Given the description of an element on the screen output the (x, y) to click on. 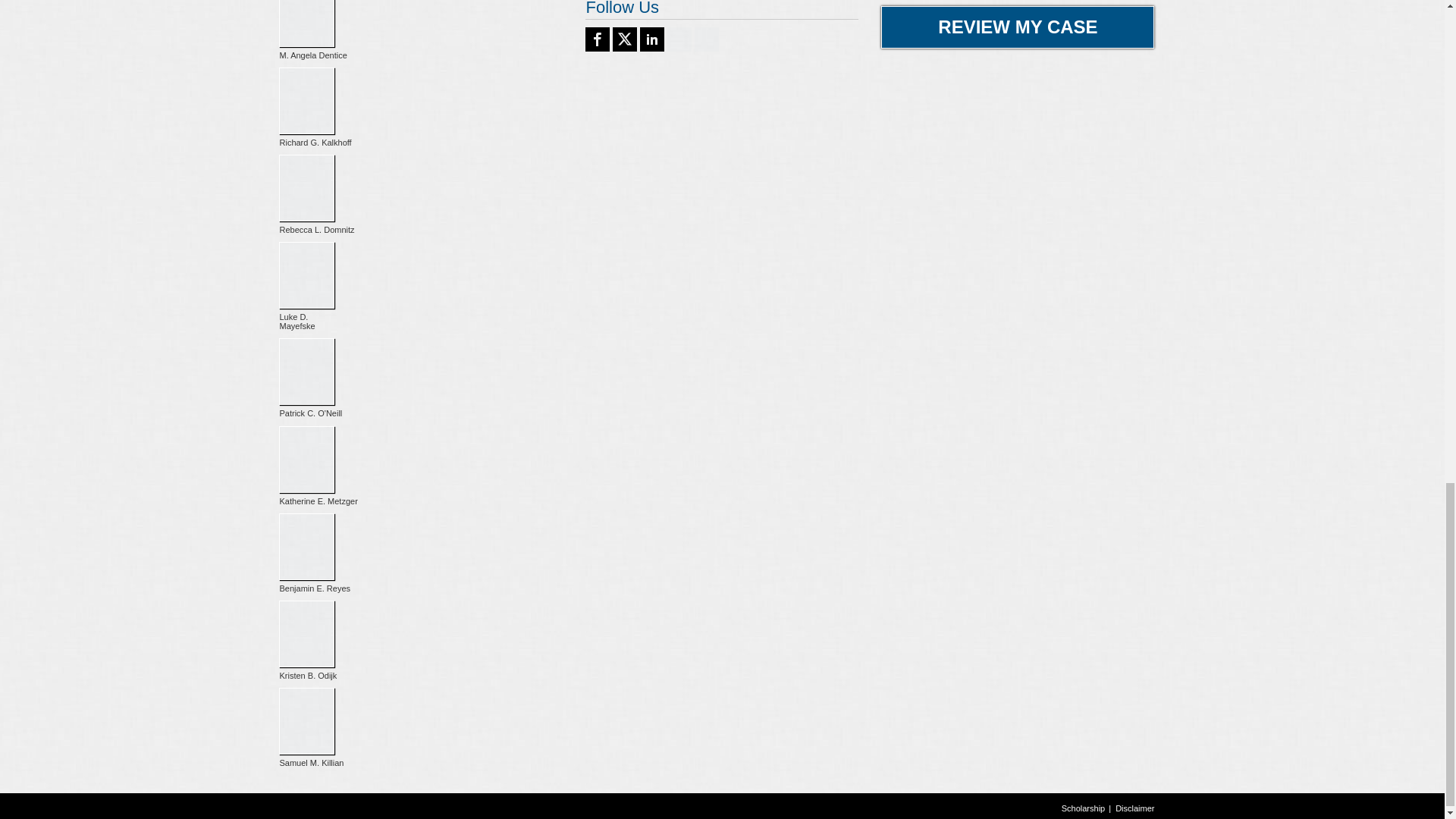
REVIEW MY CASE (1017, 26)
